Given the description of an element on the screen output the (x, y) to click on. 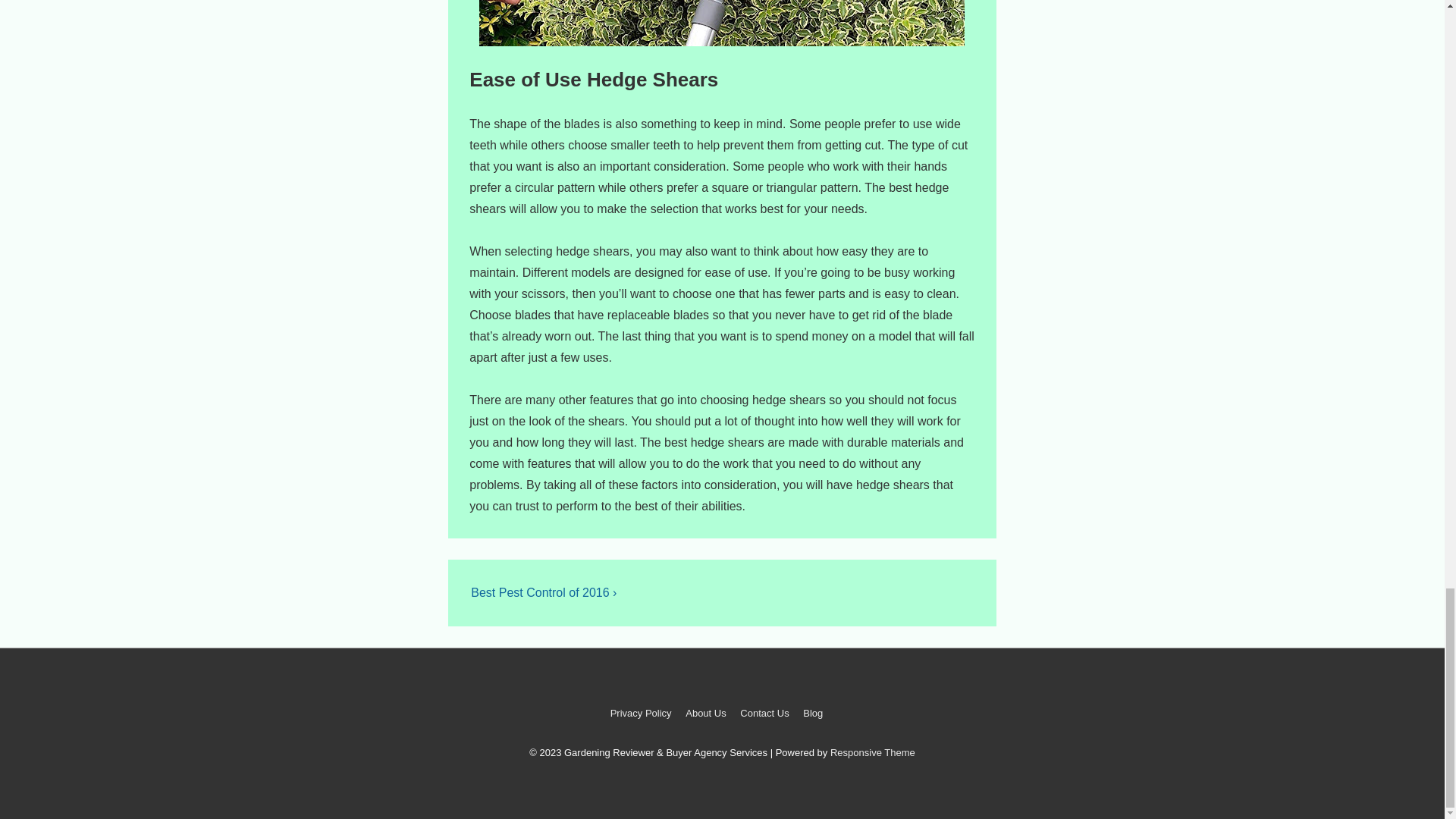
Responsive Theme (872, 752)
Blog (812, 712)
About Us (705, 712)
Contact Us (764, 712)
Privacy Policy (640, 712)
